Given the description of an element on the screen output the (x, y) to click on. 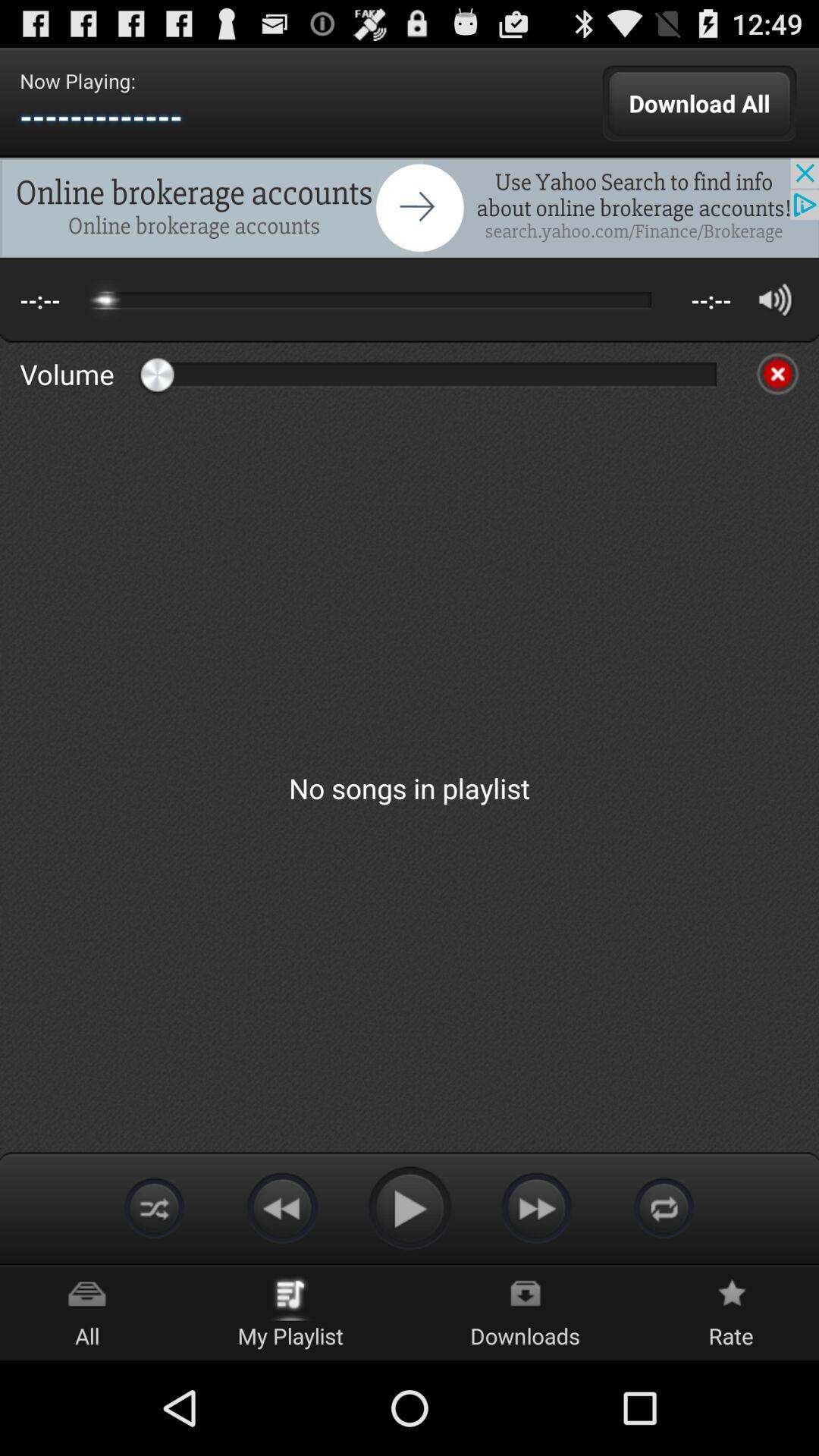
go back (281, 1207)
